Given the description of an element on the screen output the (x, y) to click on. 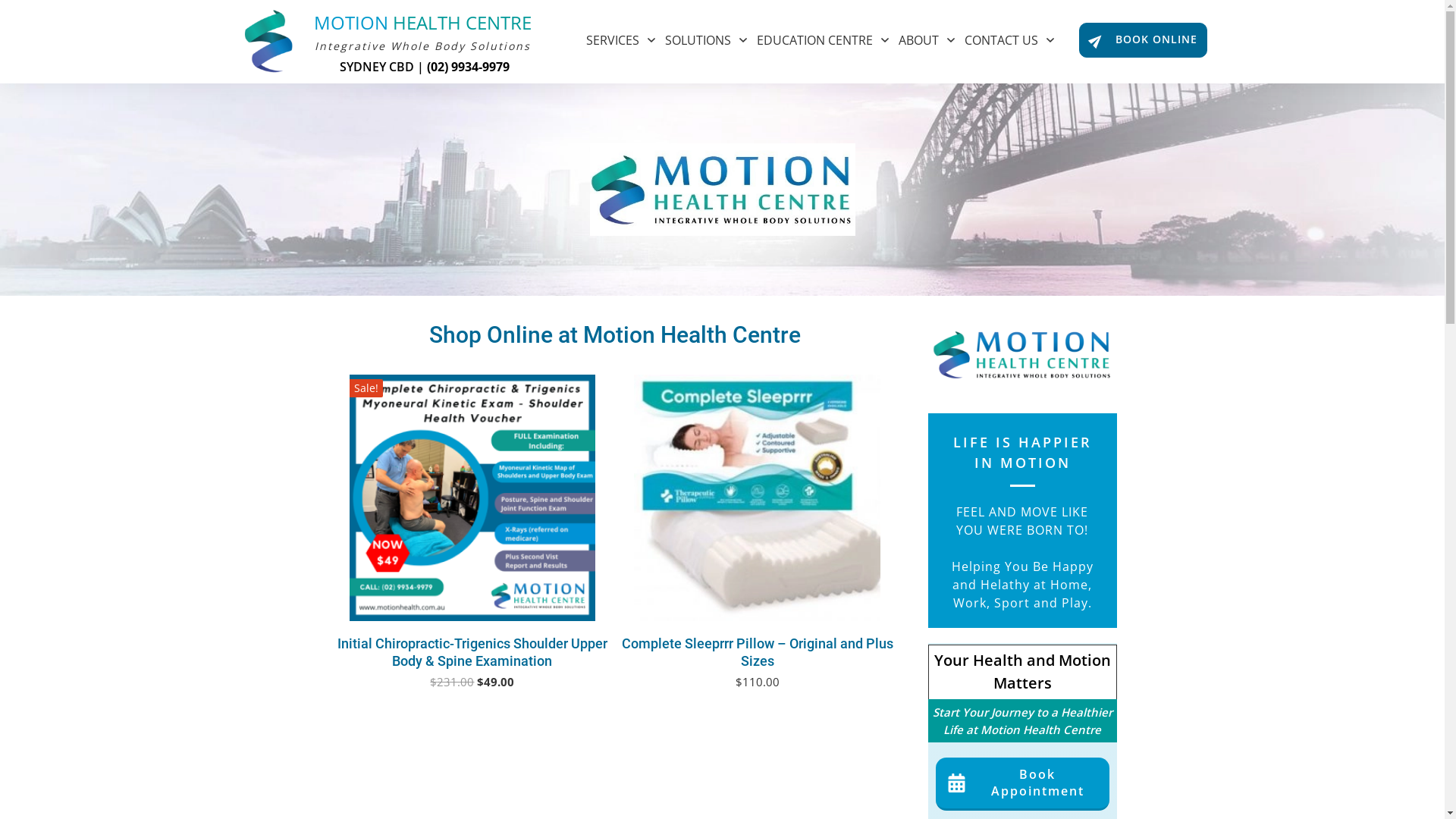
CONTACT US Element type: text (1010, 39)
MOTION HEALTH CENTRE
Integrative Whole Body Solutions Element type: text (422, 34)
SERVICES Element type: text (621, 39)
Motion Health Centre Logo Element type: hover (1022, 354)
(02) 9934-9979 Element type: text (467, 65)
EDUCATION CENTRE Element type: text (823, 39)
SOLUTIONS Element type: text (707, 39)
Motion Health Centre Spring Logo Element type: hover (270, 41)
ABOUT Element type: text (927, 39)
BOOK ONLINE Element type: text (1142, 39)
Book Appointment Element type: text (1021, 783)
